Given the description of an element on the screen output the (x, y) to click on. 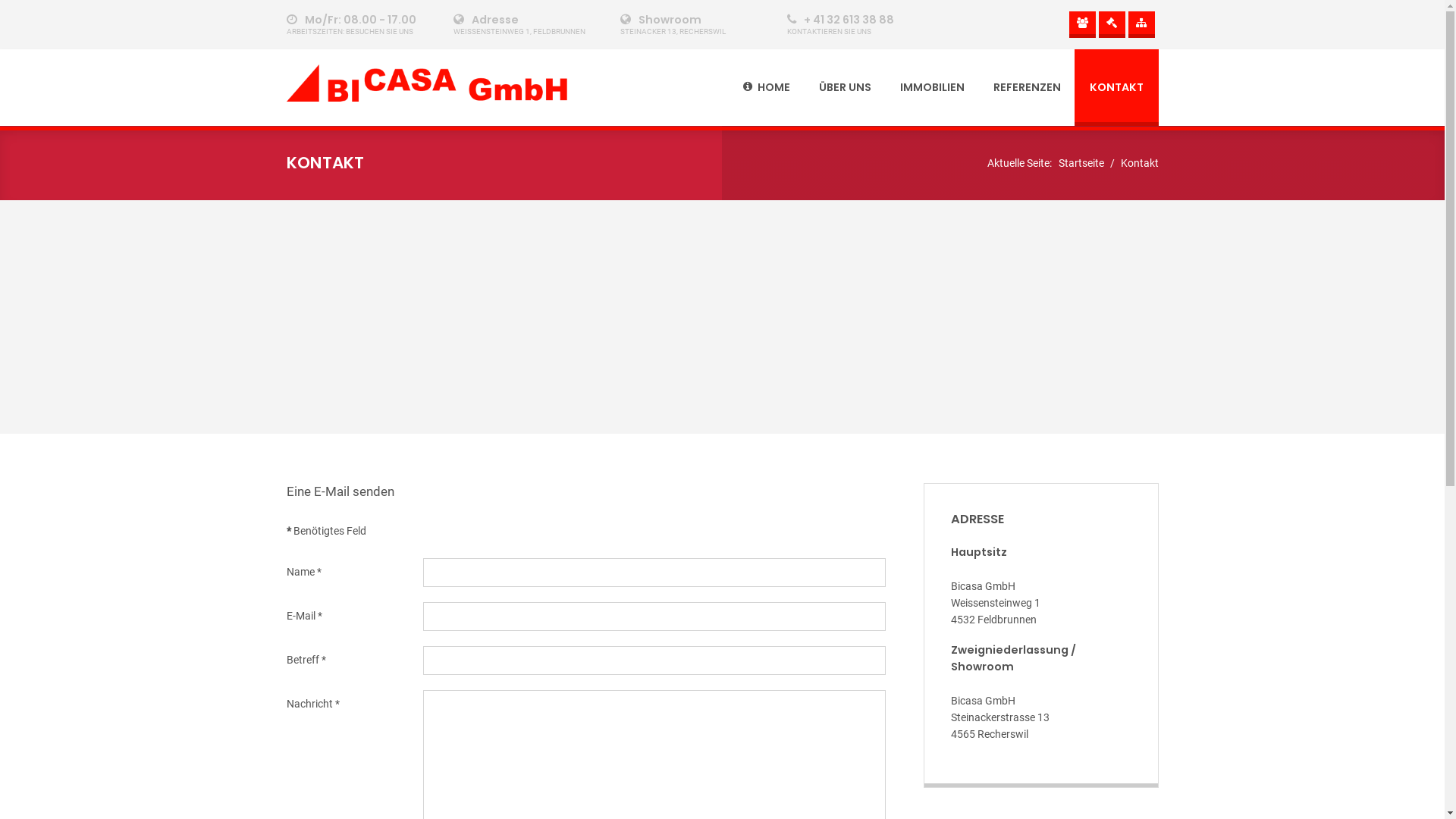
DSGVO Element type: hover (1111, 24)
REFERENZEN Element type: text (1027, 87)
Sitemap Element type: hover (1141, 24)
KONTAKT Element type: text (1115, 87)
Solo Element type: hover (426, 82)
Startseite Element type: text (1081, 162)
Impressum Element type: hover (1082, 24)
HOME Element type: text (766, 87)
